Given the description of an element on the screen output the (x, y) to click on. 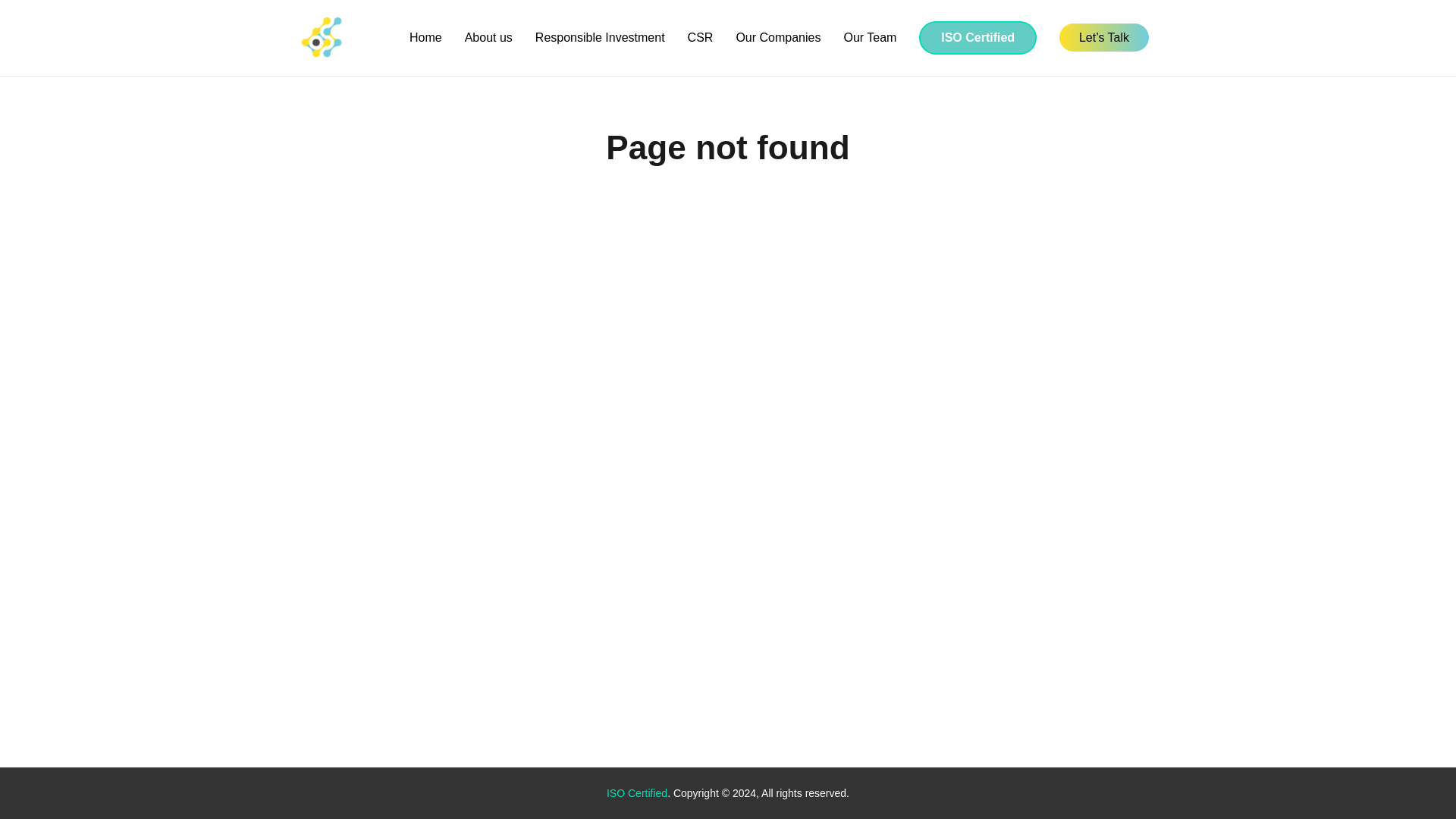
Our Companies (777, 38)
Responsible Investment (600, 38)
About us (488, 38)
ISO Certified (977, 38)
Our Team (869, 38)
ISO Certified (636, 793)
